Given the description of an element on the screen output the (x, y) to click on. 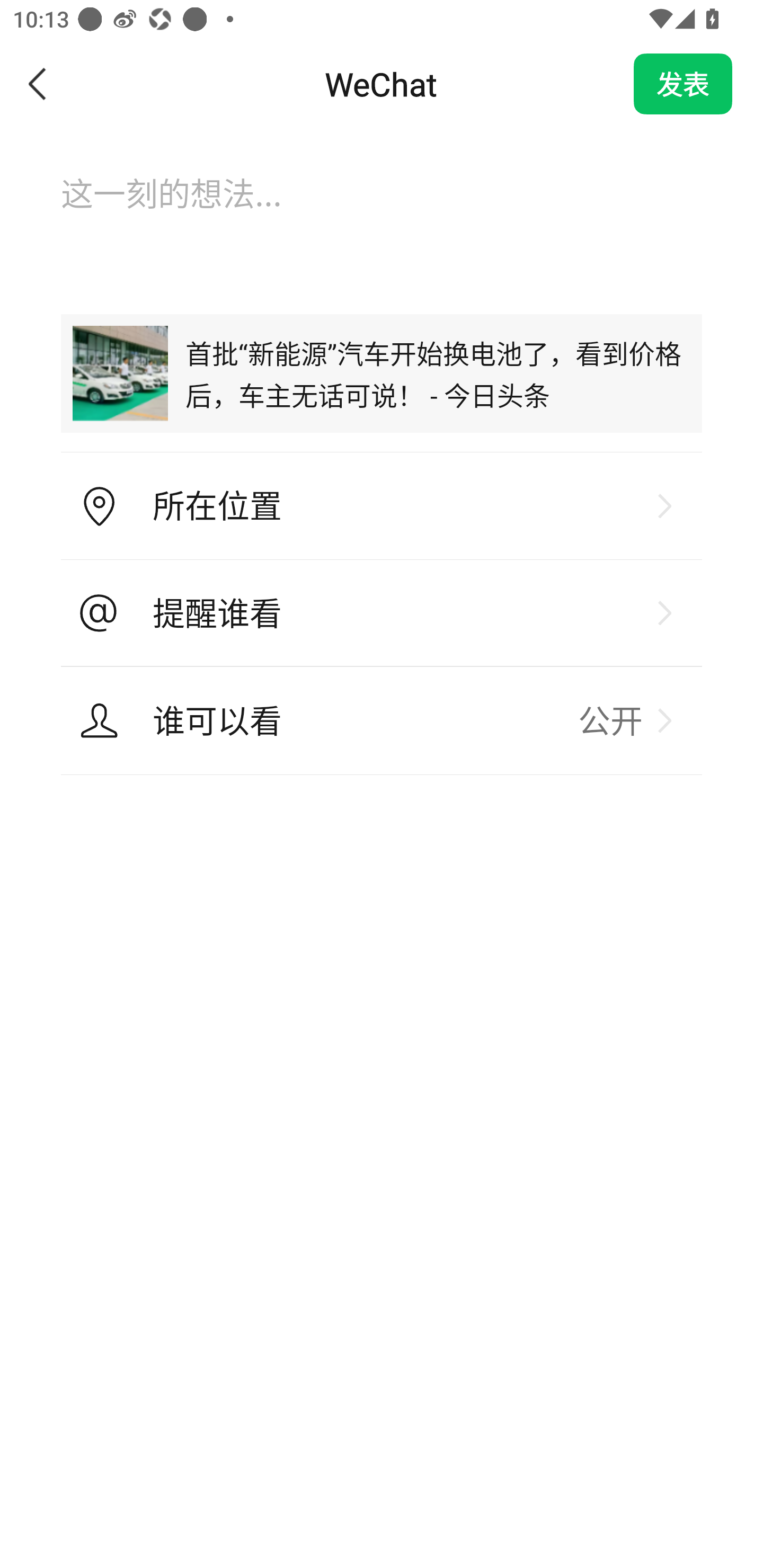
返回 (38, 83)
发表 (683, 83)
这一刻的想法... (381, 211)
首批“新能源”汽车开始换电池了，看到价格后，车主无话可说！ - 今日头条 (381, 372)
所在位置 (381, 506)
提醒谁看  提醒谁看 (381, 612)
谁可以看 公开 (381, 720)
